Given the description of an element on the screen output the (x, y) to click on. 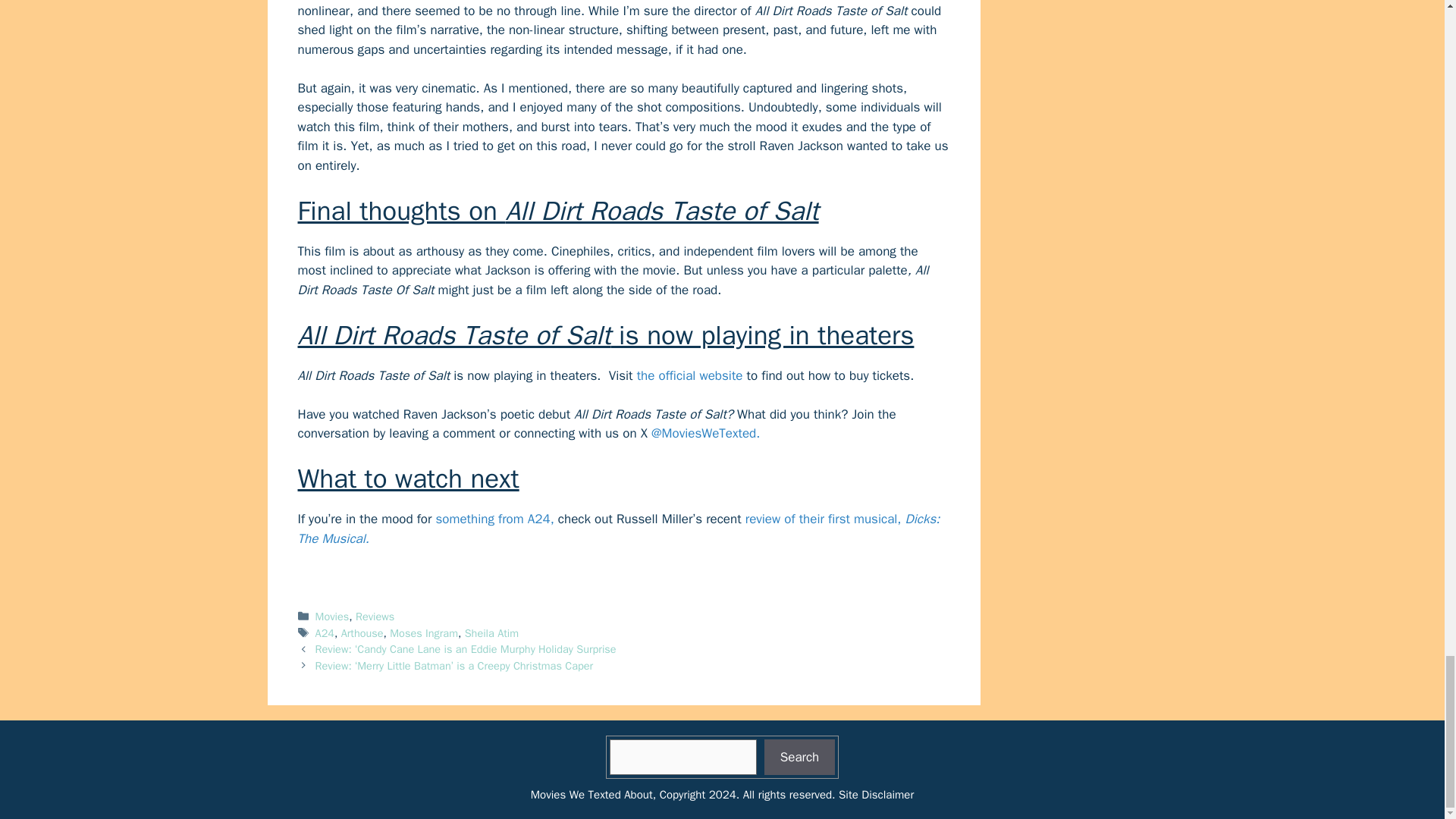
Sheila Atim (491, 632)
Moses Ingram (424, 632)
A24 (324, 632)
Movies (332, 616)
review of their first musical, Dicks: The Musical. (618, 529)
the official website (689, 375)
Arthouse (362, 632)
Reviews (374, 616)
something from A24, (494, 519)
